Given the description of an element on the screen output the (x, y) to click on. 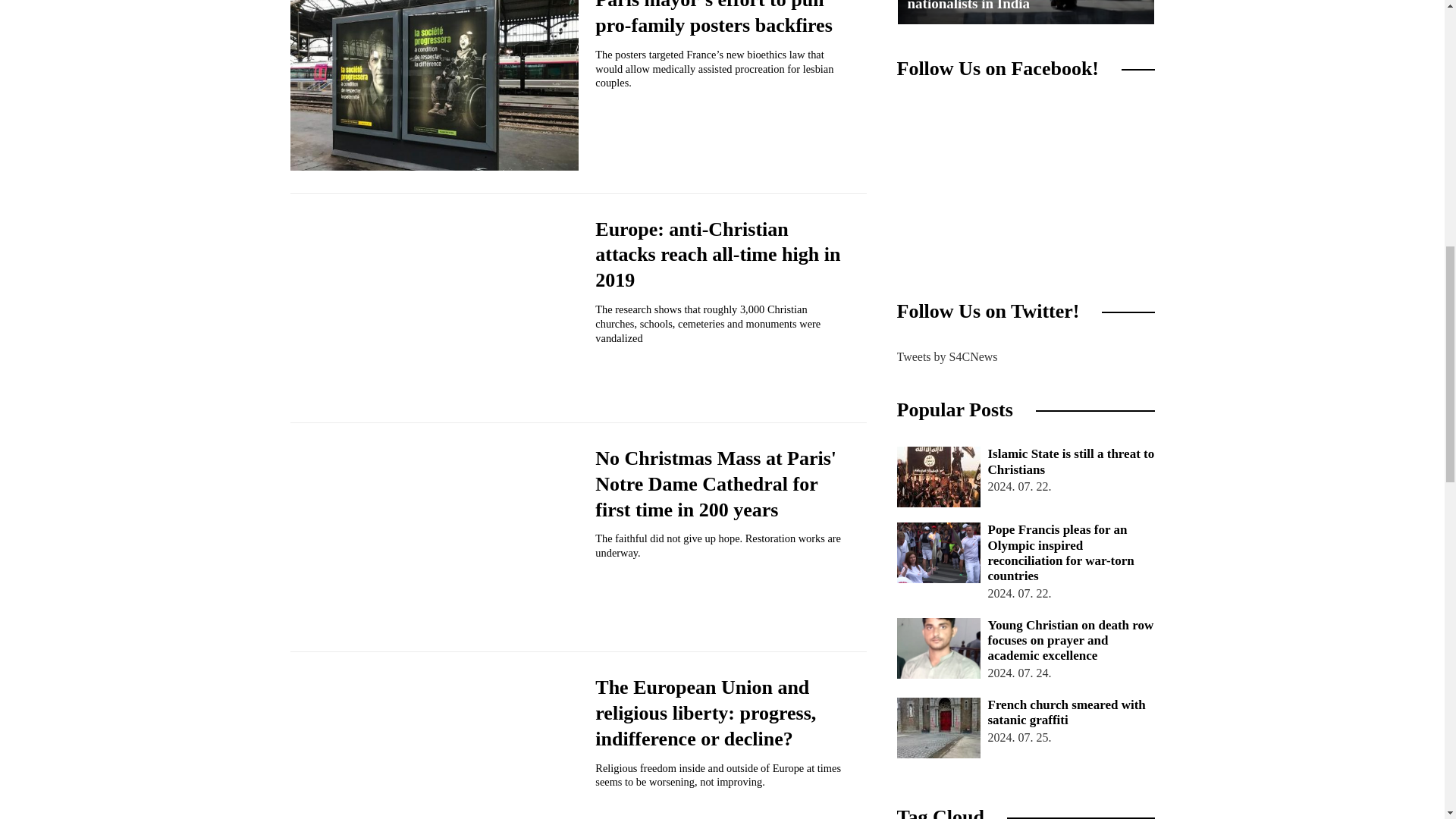
Europe: anti-Christian attacks reach all-time high in 2019 (717, 254)
Islamic State is still a threat to Christians (937, 476)
French church smeared with satanic graffiti (937, 727)
